Given the description of an element on the screen output the (x, y) to click on. 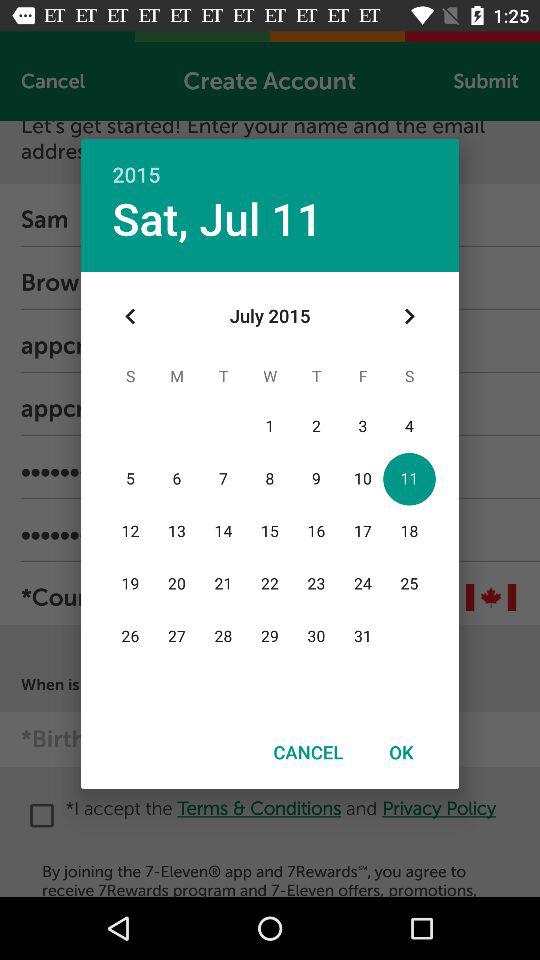
tap item below the 2015 icon (217, 218)
